Given the description of an element on the screen output the (x, y) to click on. 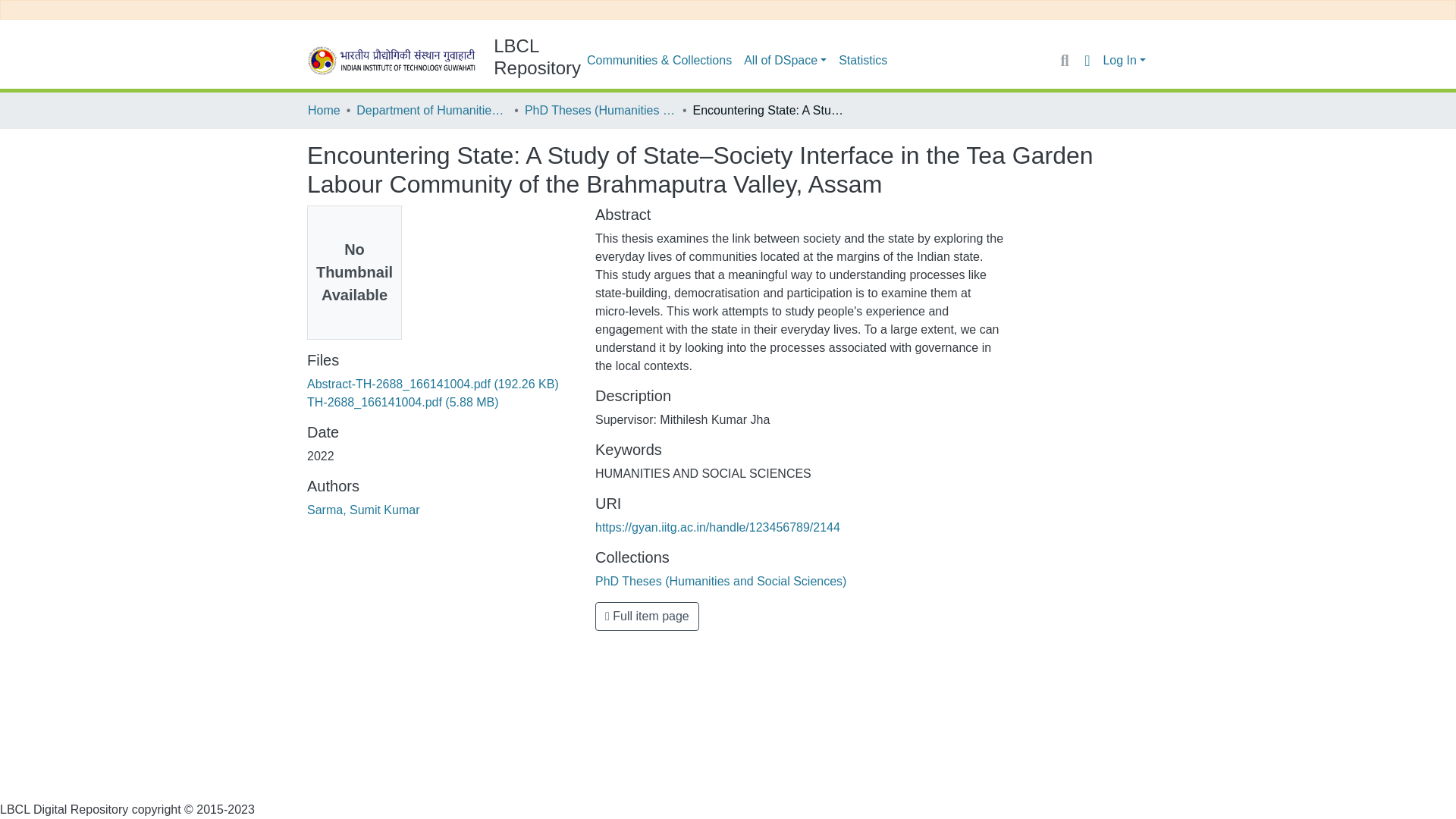
Search (1064, 60)
Home (323, 110)
Sarma, Sumit Kumar (363, 509)
Statistics (862, 60)
Department of Humanities and Social Sciences (432, 110)
Log In (1123, 60)
Language switch (1086, 60)
Statistics (862, 60)
Full item page (646, 615)
All of DSpace (785, 60)
